Given the description of an element on the screen output the (x, y) to click on. 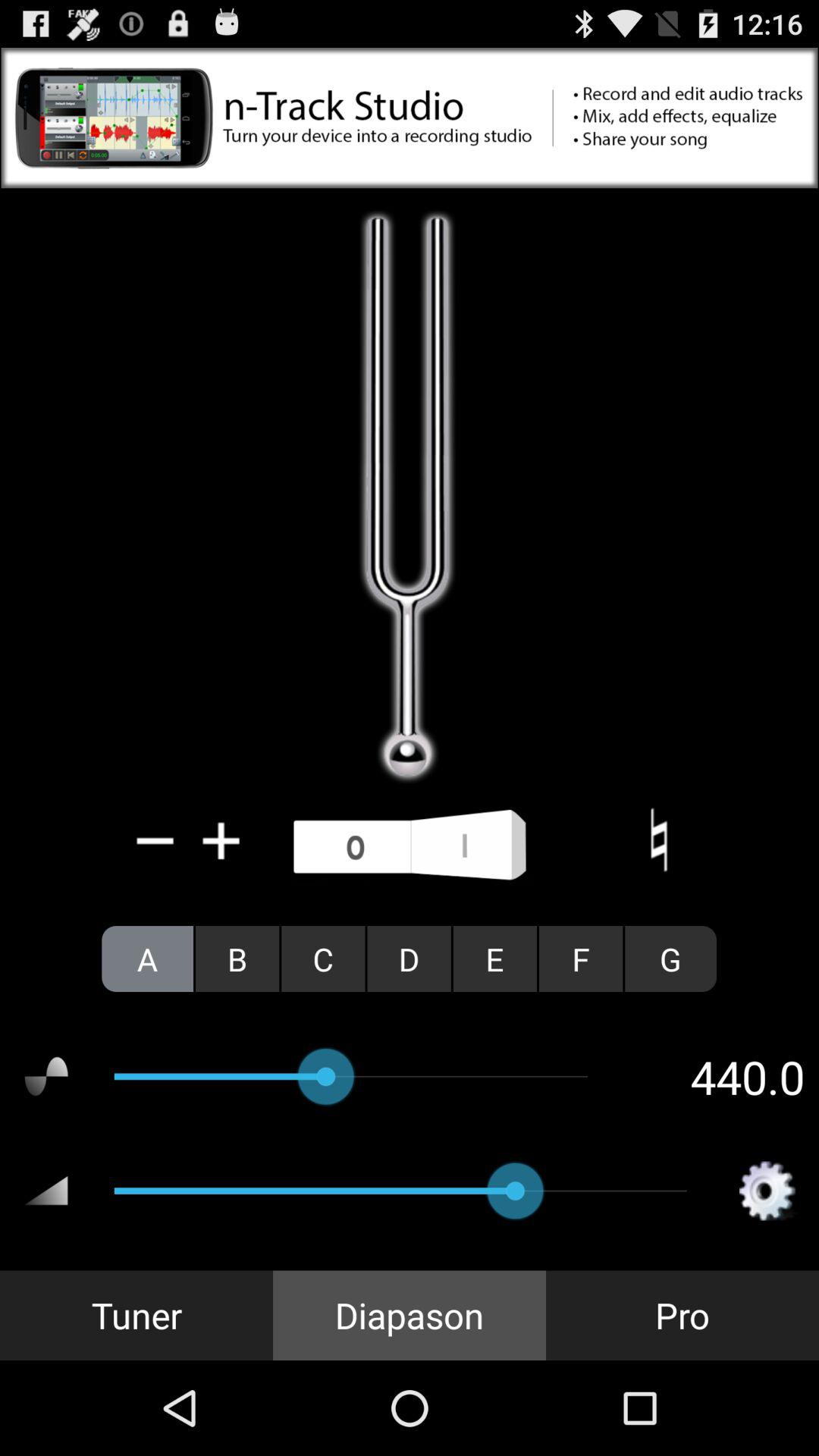
tap item above the 440.0 (670, 958)
